Given the description of an element on the screen output the (x, y) to click on. 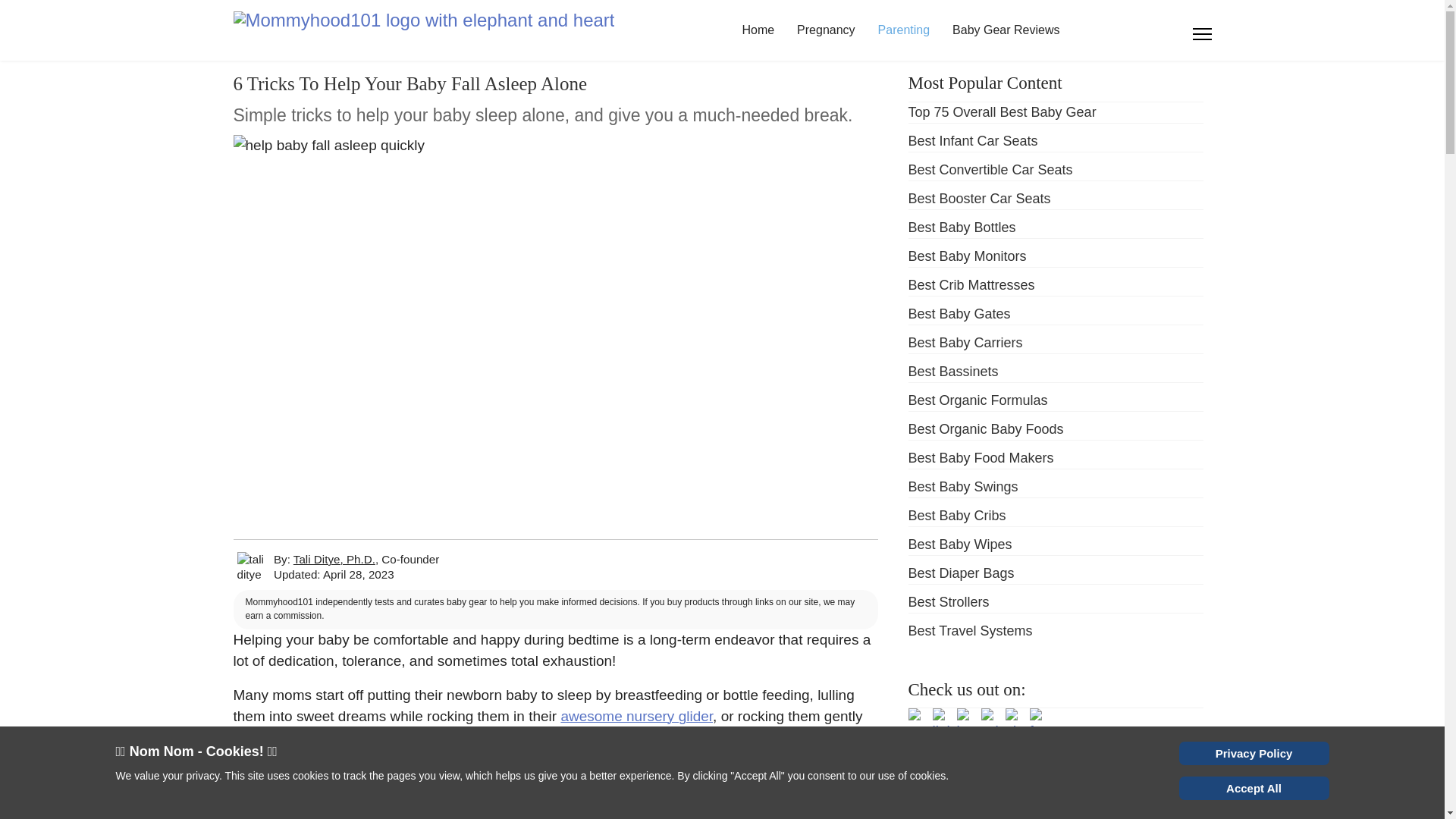
Pregnancy (826, 30)
Best Convertible Car Seats (990, 169)
awesome nursery glider (636, 715)
Baby Gear Reviews (1005, 30)
baby swing (370, 738)
Best Infant Car Seats (973, 140)
bassinet (287, 738)
Tali Ditye, Ph.D. (334, 558)
Parenting (904, 30)
Home (758, 30)
Top 75 Overall Best Baby Gear (1002, 111)
